Given the description of an element on the screen output the (x, y) to click on. 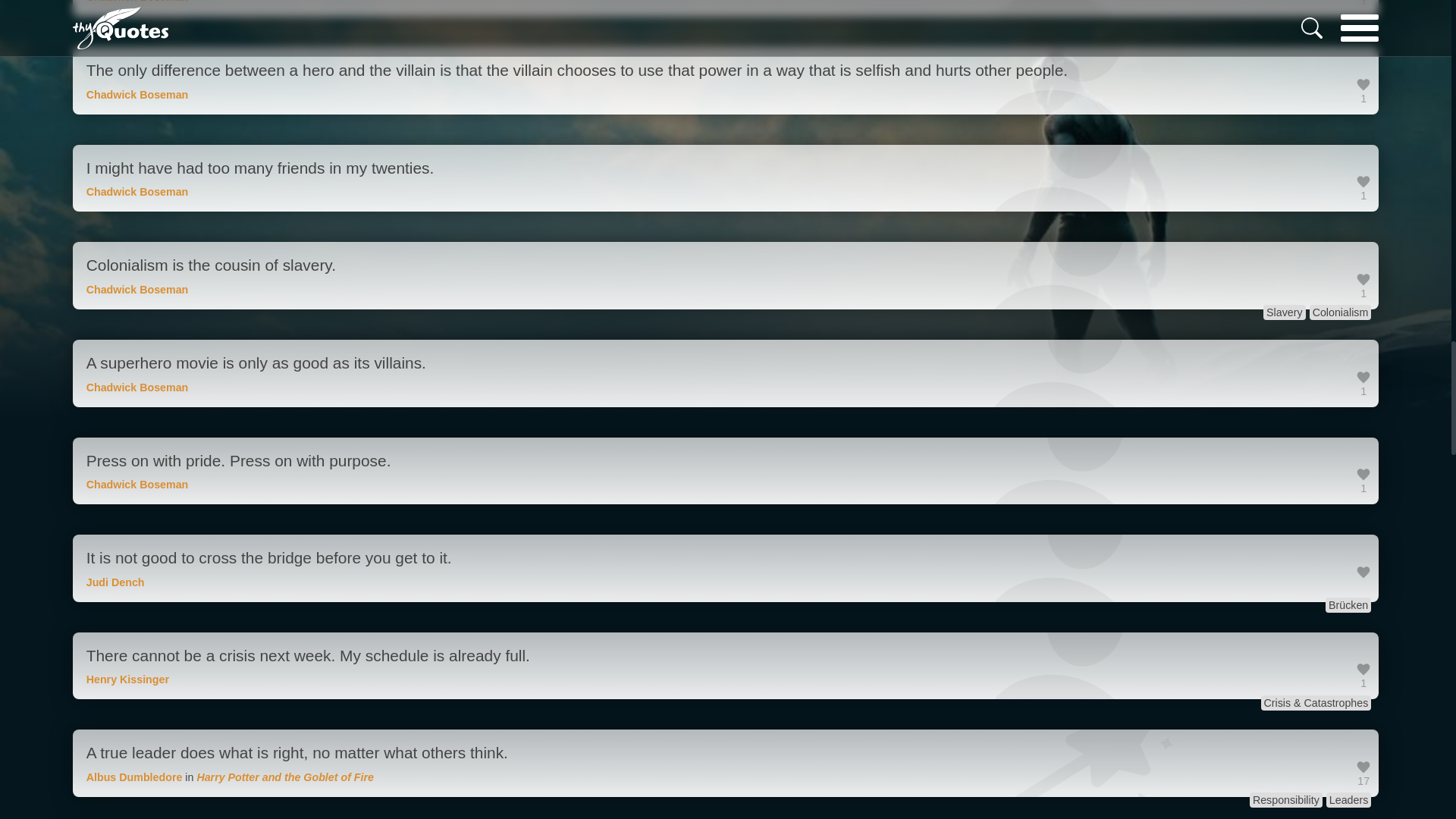
Henry Kissinger (126, 679)
Chadwick Boseman (137, 484)
Chadwick Boseman (137, 1)
Chadwick Boseman (137, 289)
Chadwick Boseman (137, 94)
Chadwick Boseman (137, 387)
Chadwick Boseman (137, 191)
Judi Dench (114, 582)
Colonialism (1339, 312)
Slavery (1284, 312)
